Given the description of an element on the screen output the (x, y) to click on. 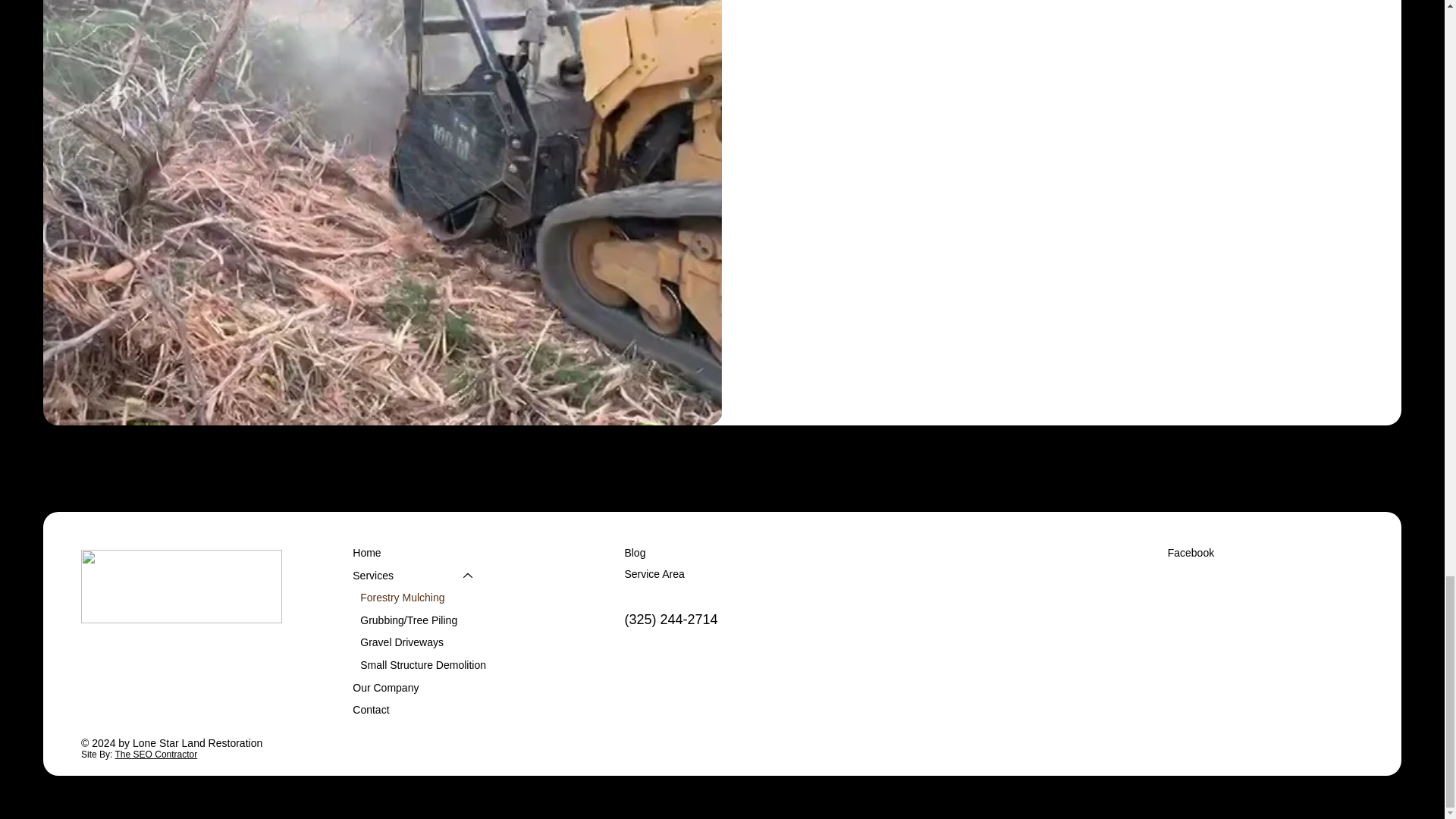
The SEO Contractor (156, 754)
Facebook (1190, 552)
Forestry Mulching (419, 598)
Service Area (654, 573)
Blog (634, 552)
Gravel Driveways (419, 642)
Small Structure Demolition (419, 665)
Contact (419, 710)
Our Company (419, 687)
Home (419, 553)
